Given the description of an element on the screen output the (x, y) to click on. 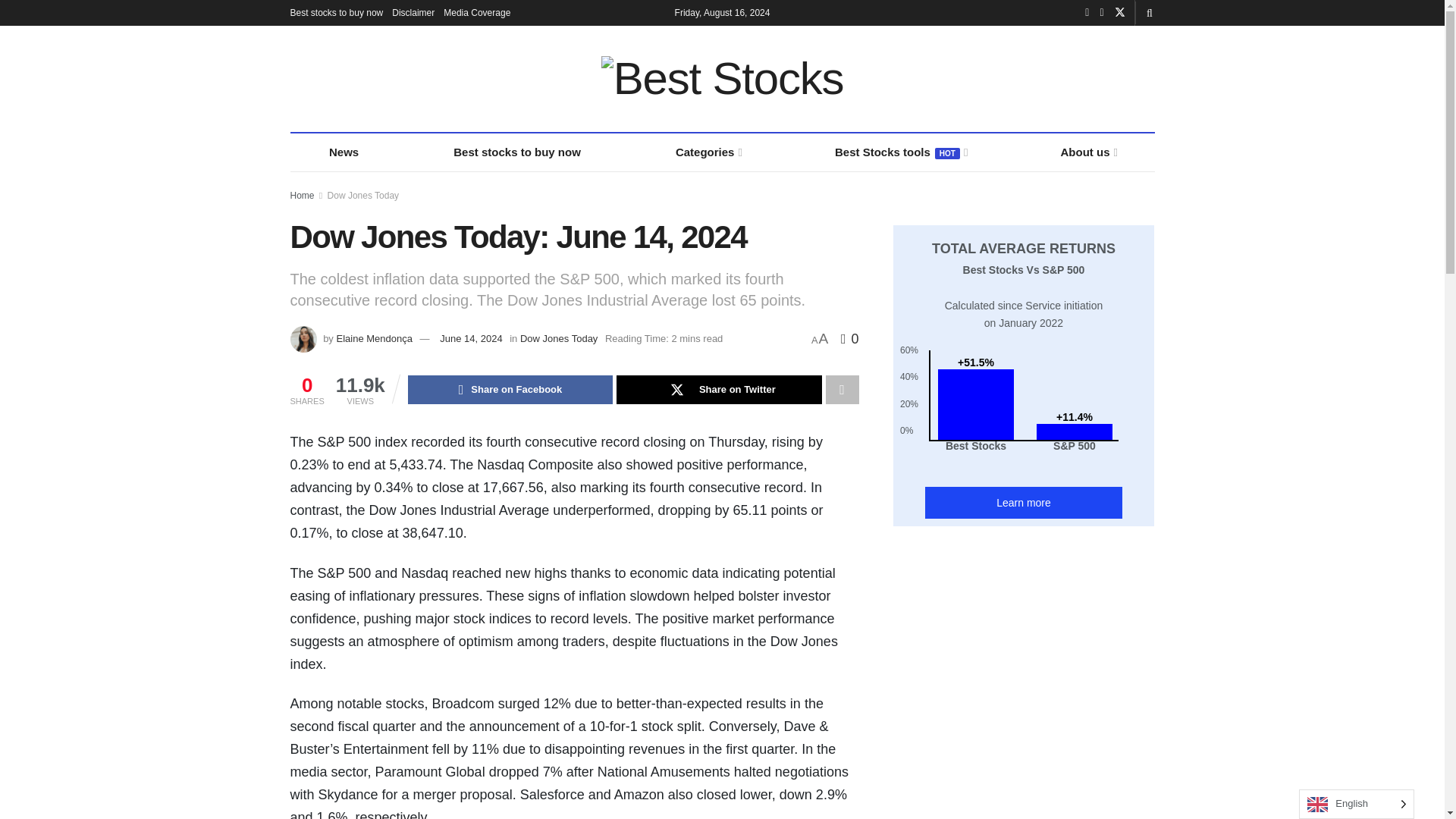
Dow Jones Today (557, 337)
About us (1088, 152)
Disclaimer (412, 12)
Best stocks to buy now (517, 152)
Categories (707, 152)
Share on Facebook (509, 389)
Media Coverage (477, 12)
Best stocks to buy now (335, 12)
News (343, 152)
Home (301, 195)
